Given the description of an element on the screen output the (x, y) to click on. 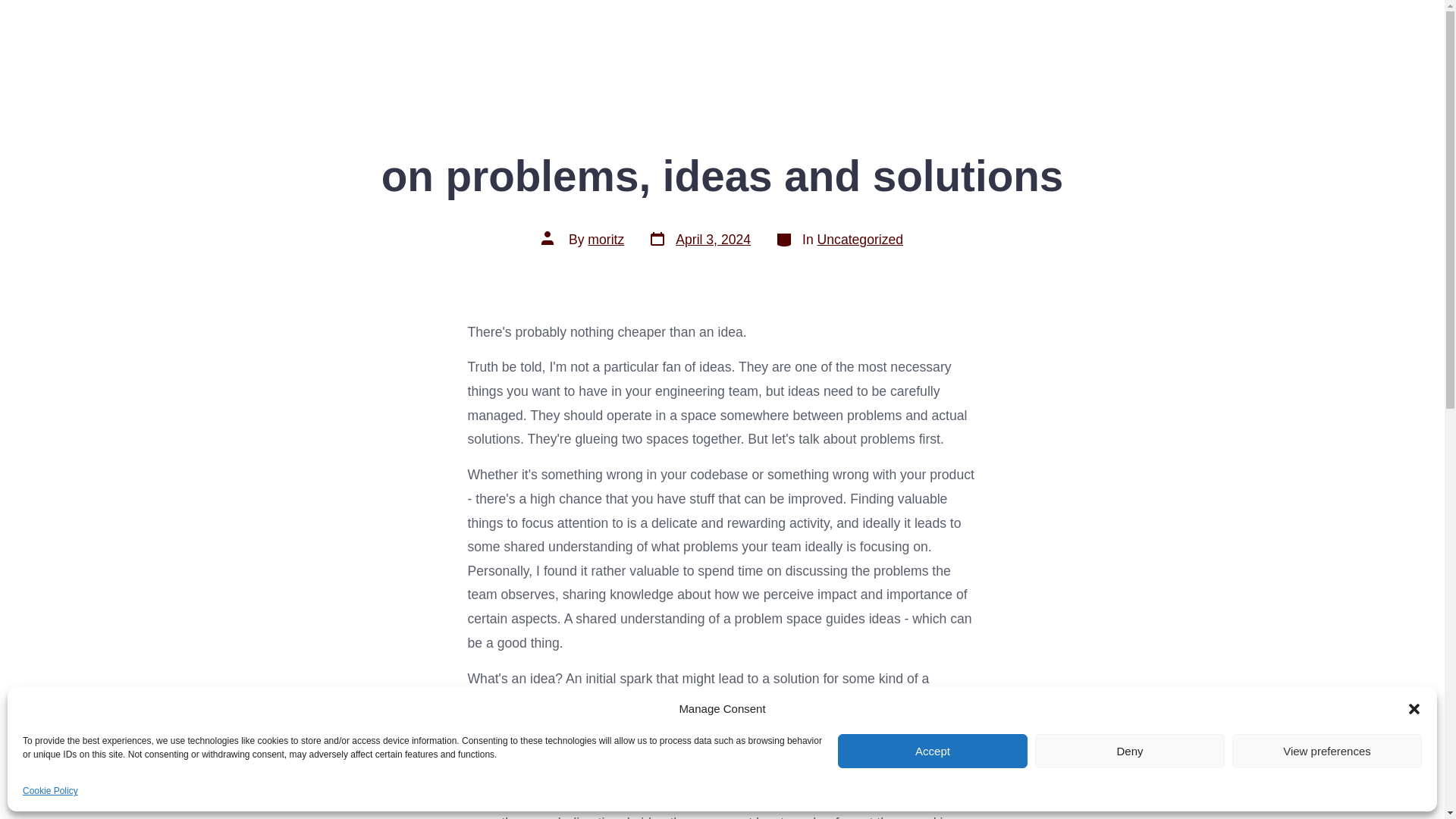
View preferences (1326, 750)
moritz (606, 239)
Cookie Policy (50, 791)
blog.moritzhaarmann.de (699, 240)
about me (188, 42)
Accept (1327, 42)
Deny (932, 750)
Uncategorized (1129, 750)
